Given the description of an element on the screen output the (x, y) to click on. 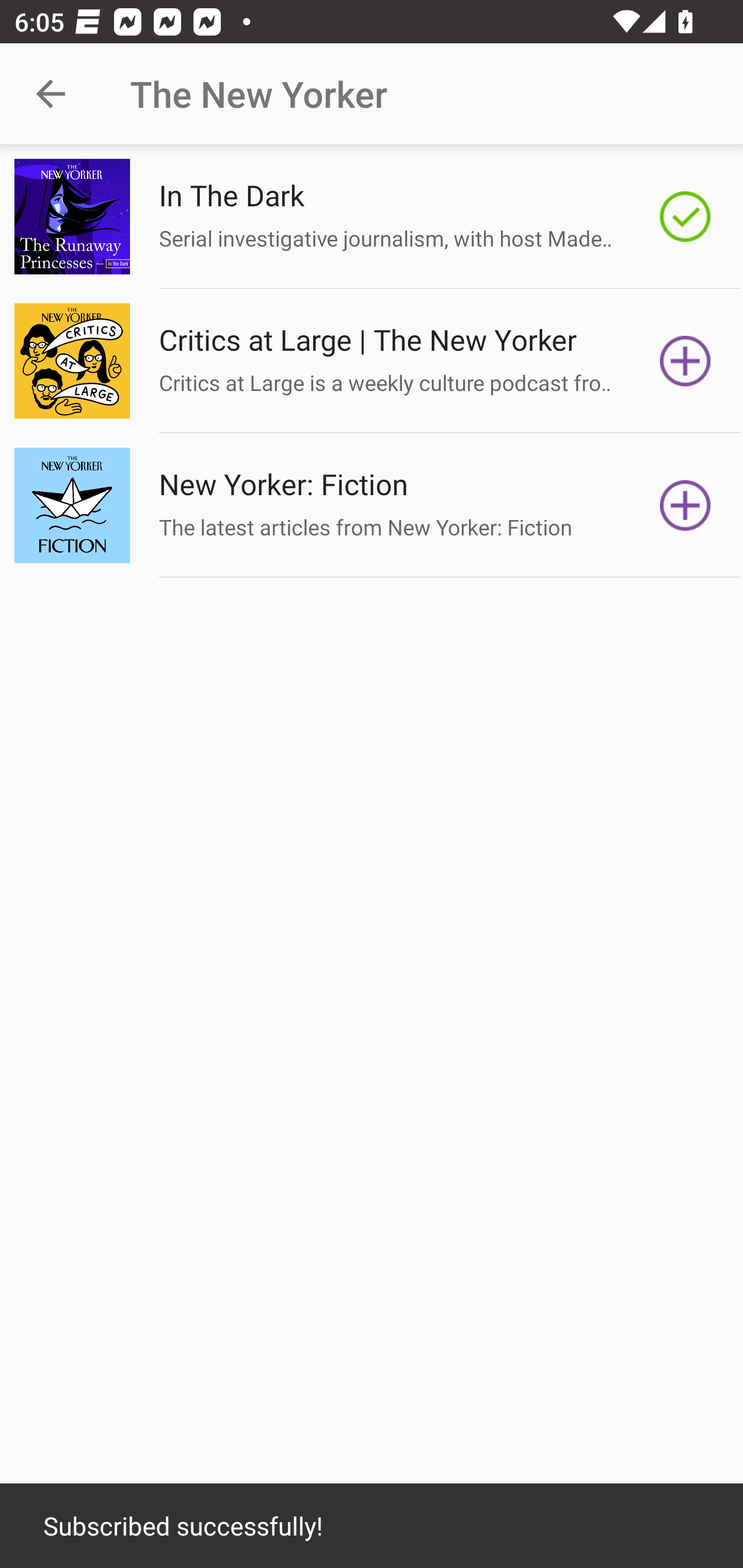
Navigate up (50, 93)
Subscribed (685, 216)
Subscribe (685, 360)
Subscribe (685, 505)
Subscribed successfully! (371, 1525)
